Given the description of an element on the screen output the (x, y) to click on. 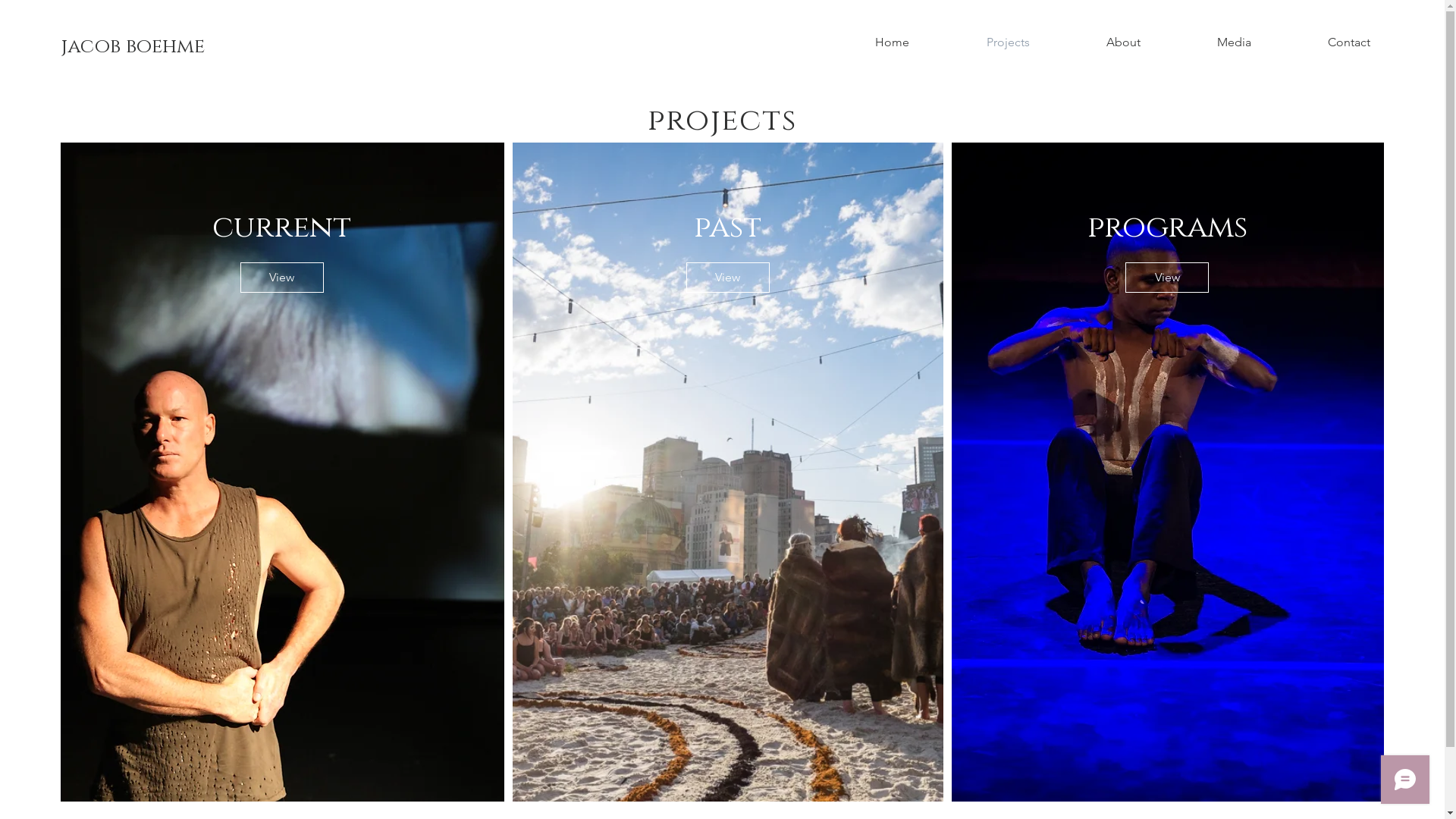
View Element type: text (727, 277)
Contact Element type: text (1348, 42)
Home Element type: text (891, 42)
jacob boehme Element type: text (132, 46)
Media Element type: text (1233, 42)
About Element type: text (1122, 42)
Projects Element type: text (1007, 42)
View Element type: text (281, 277)
View Element type: text (1166, 277)
